Given the description of an element on the screen output the (x, y) to click on. 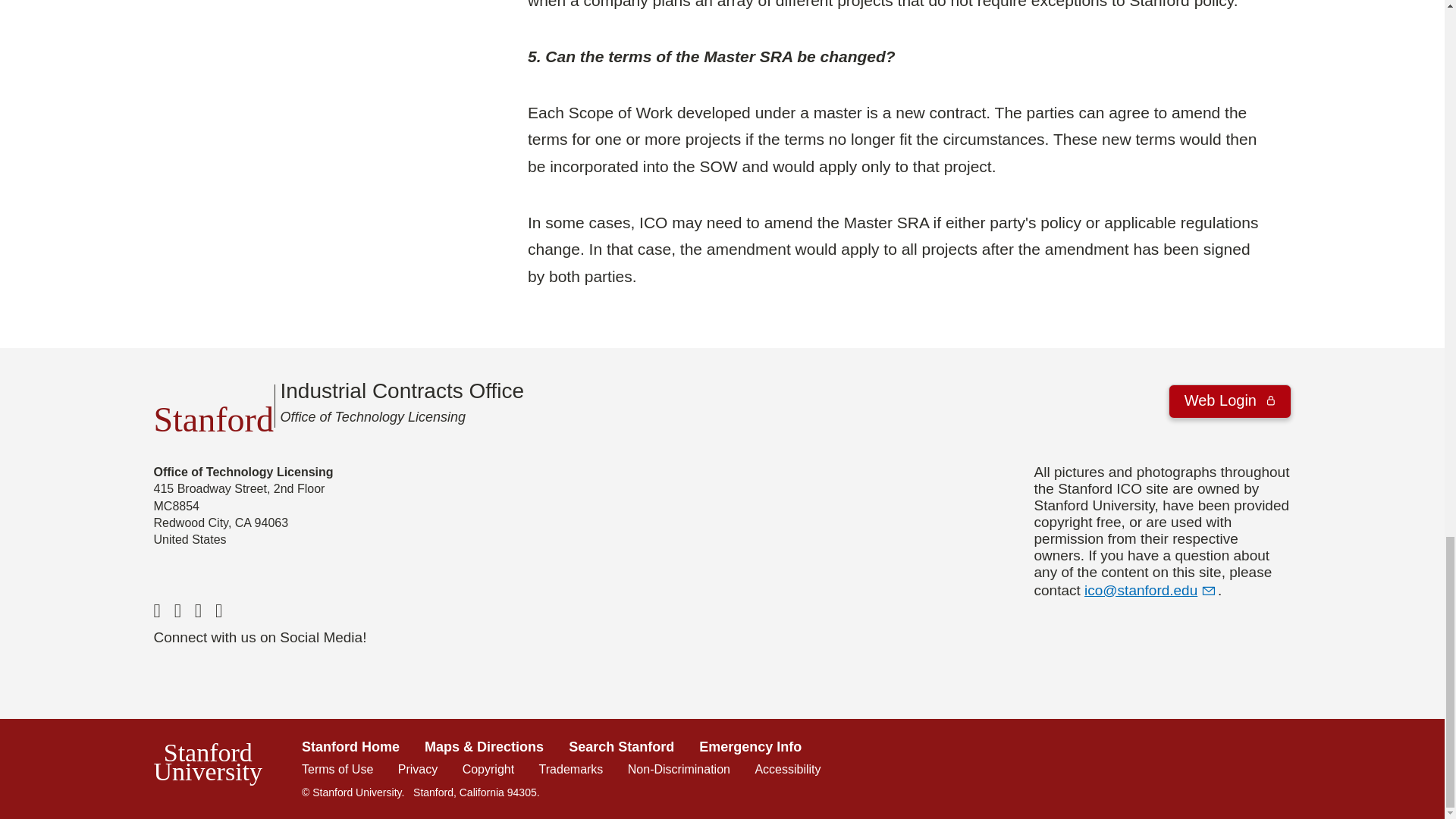
Ownership and use of Stanford trademarks and images (571, 768)
Report alleged copyright infringement (488, 768)
Privacy and cookie policy (417, 768)
Non-discrimination policy (678, 768)
Report web accessibility issues (787, 768)
Terms of use for sites (336, 768)
